Given the description of an element on the screen output the (x, y) to click on. 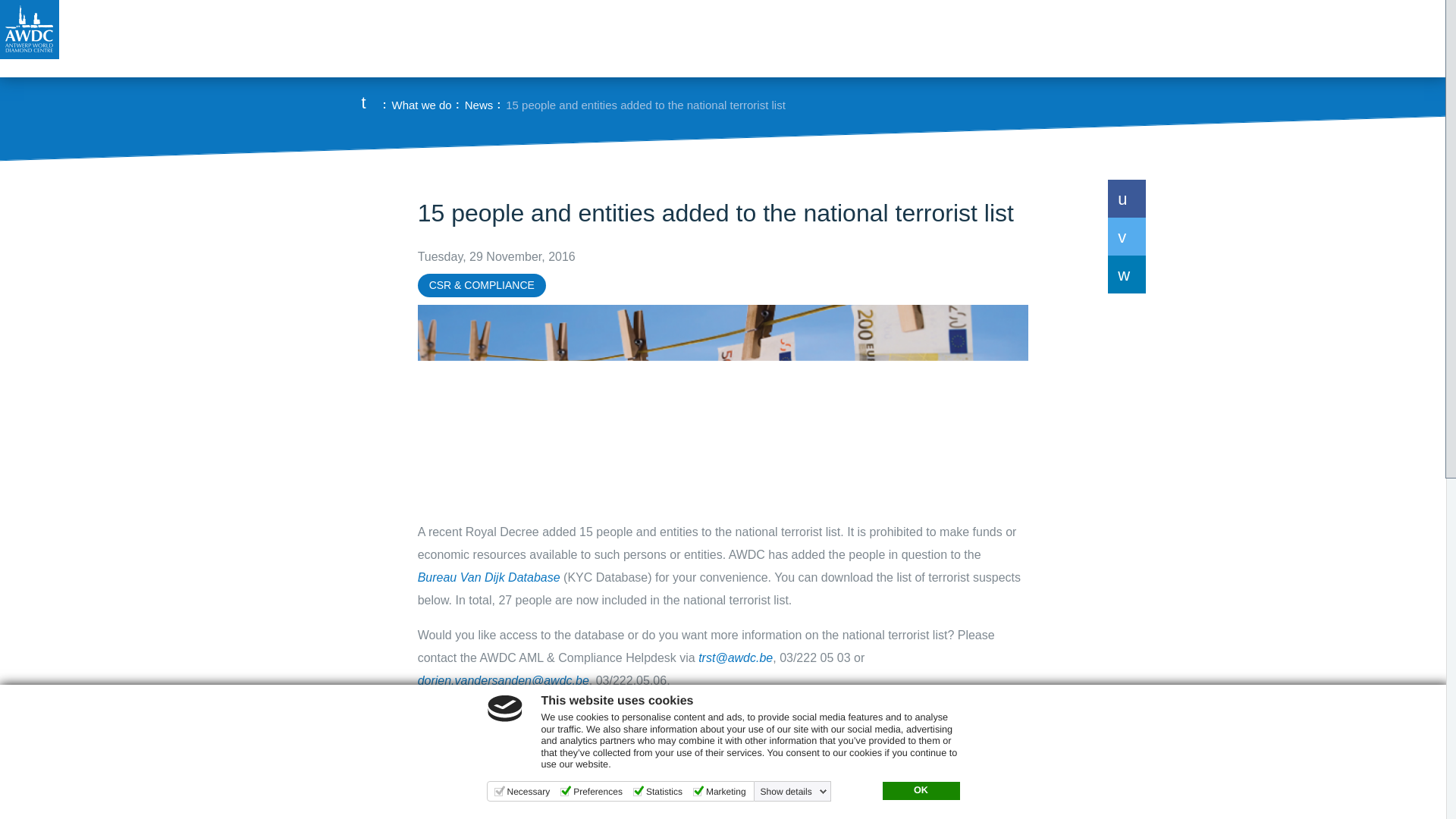
Show details (793, 791)
OK (920, 791)
